Given the description of an element on the screen output the (x, y) to click on. 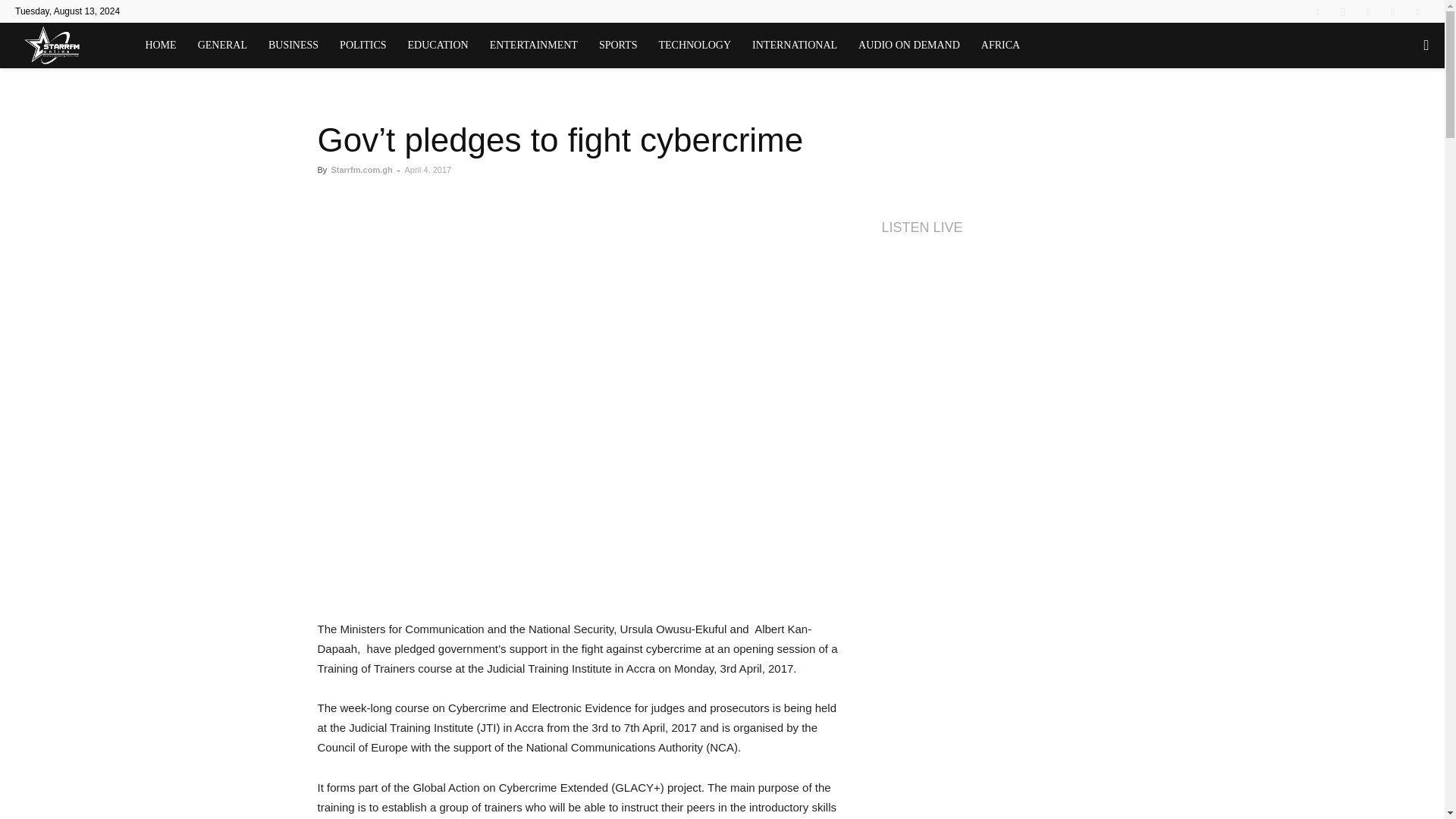
Soundcloud (1367, 11)
Facebook (1317, 11)
Instagram (1343, 11)
Starr Fm (73, 45)
POLITICS (362, 44)
EDUCATION (438, 44)
Twitter (1393, 11)
INTERNATIONAL (794, 44)
Search (1395, 110)
BUSINESS (293, 44)
